Given the description of an element on the screen output the (x, y) to click on. 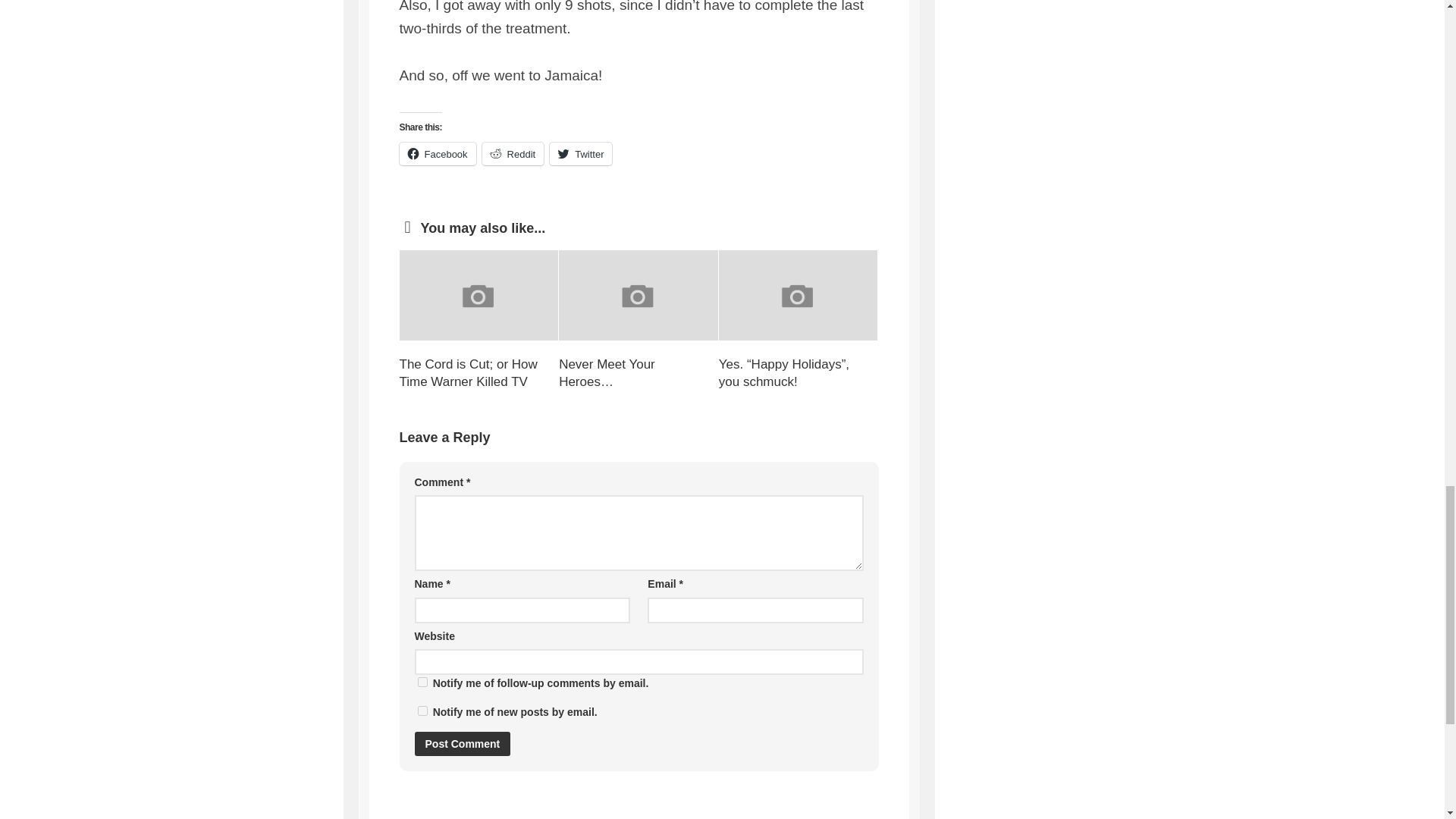
The Cord is Cut; or How Time Warner Killed TV (467, 373)
Post Comment (462, 743)
subscribe (421, 682)
Click to share on Facebook (437, 153)
Post Comment (462, 743)
subscribe (421, 710)
Facebook (437, 153)
Click to share on Reddit (512, 153)
Reddit (512, 153)
Twitter (580, 153)
Click to share on Twitter (580, 153)
